Given the description of an element on the screen output the (x, y) to click on. 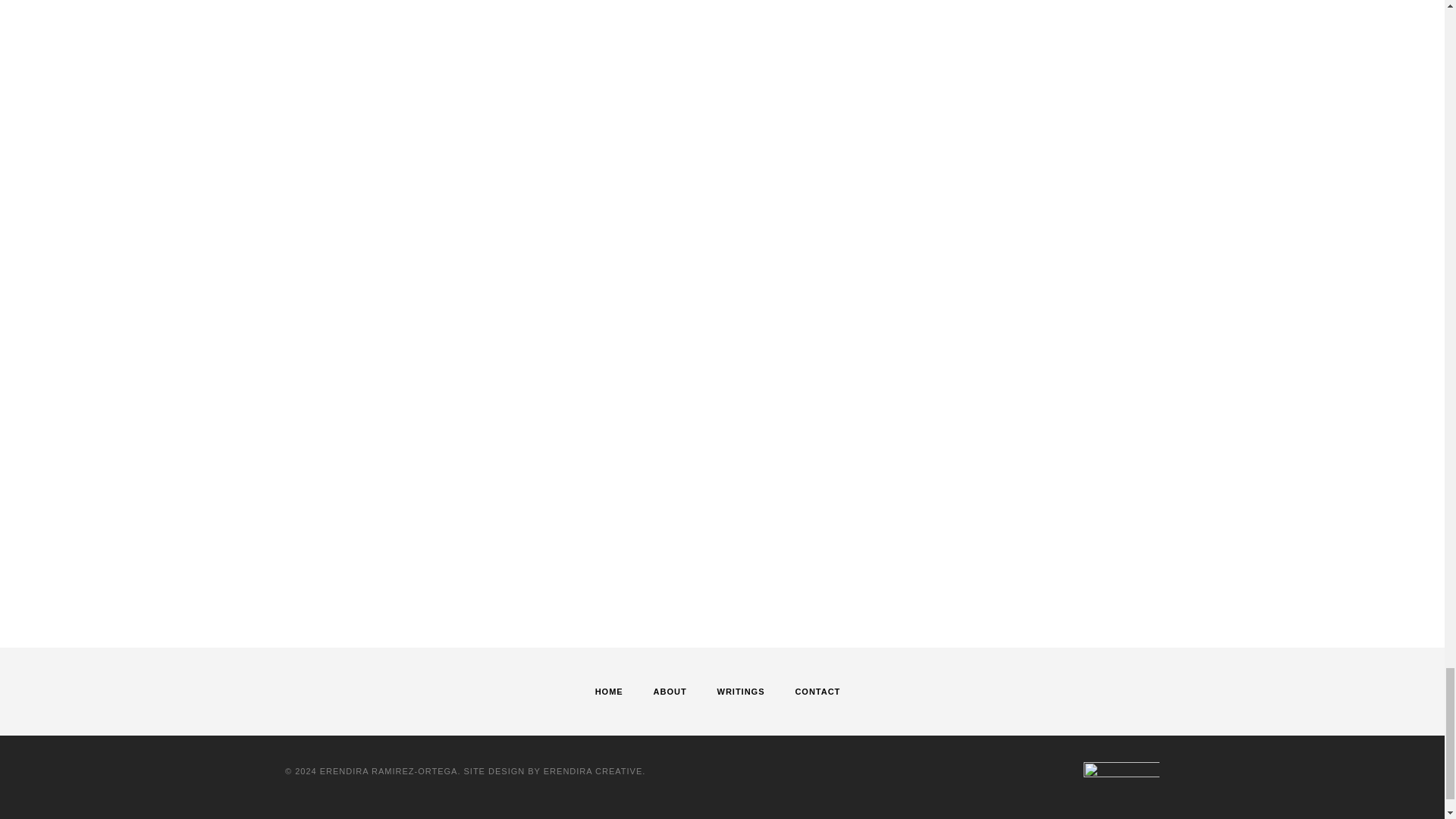
send message (484, 585)
HOME (609, 691)
